Given the description of an element on the screen output the (x, y) to click on. 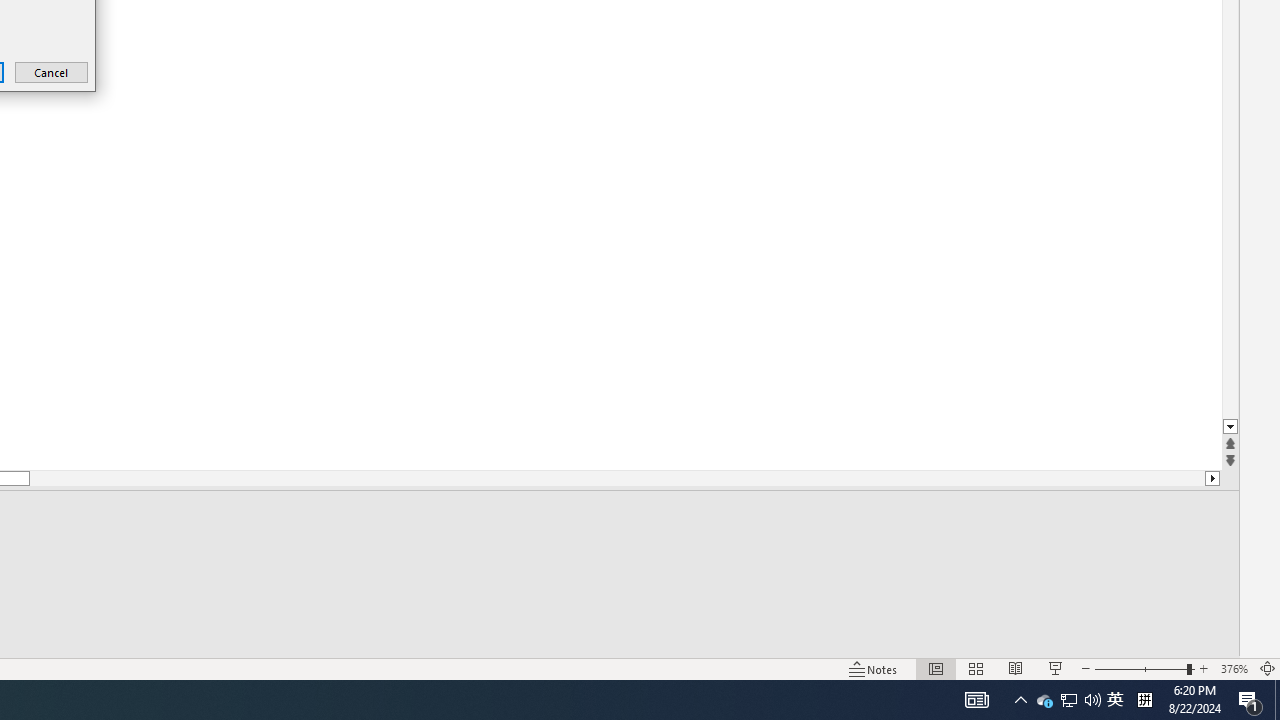
User Promoted Notification Area (1069, 699)
Zoom 376% (1068, 699)
Tray Input Indicator - Chinese (Simplified, China) (1234, 668)
